Given the description of an element on the screen output the (x, y) to click on. 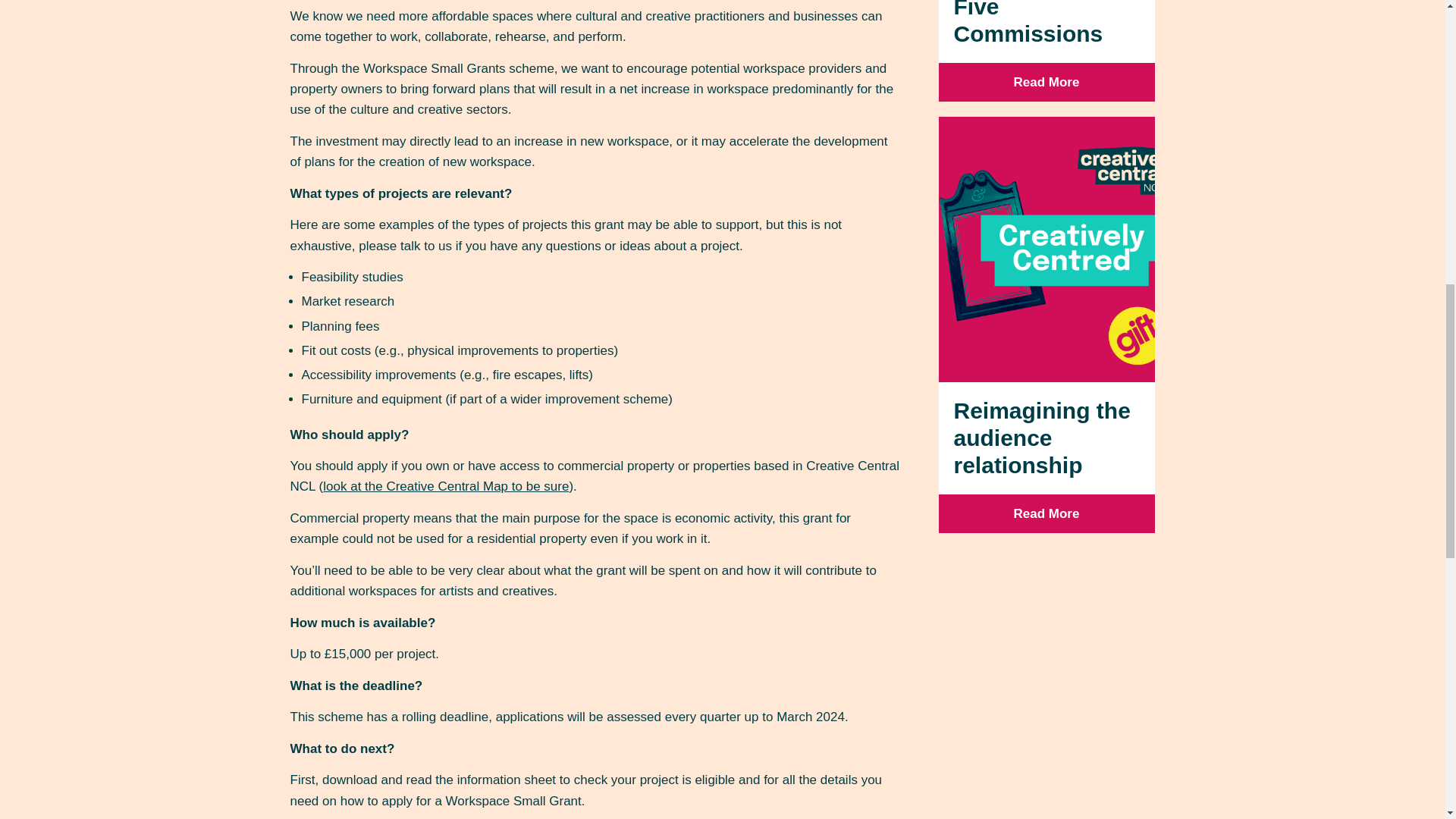
Read More (1046, 513)
Read More (1046, 82)
look at the Creative Central Map to be sure (446, 486)
